Given the description of an element on the screen output the (x, y) to click on. 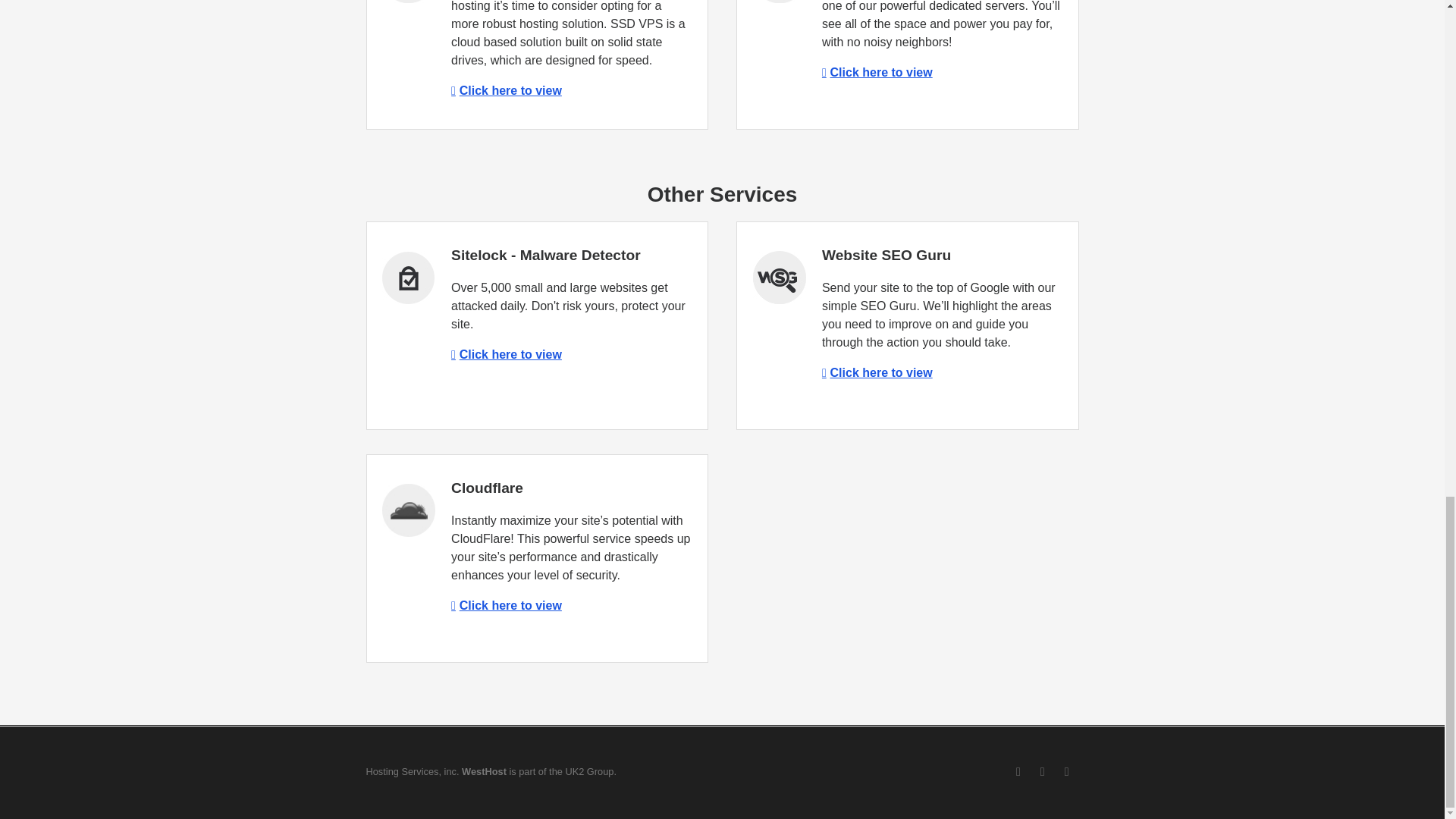
Click here to view (877, 72)
Click here to view (506, 90)
Click here to view (506, 604)
WestHost (483, 771)
Click here to view (877, 372)
Click here to view (506, 354)
